Given the description of an element on the screen output the (x, y) to click on. 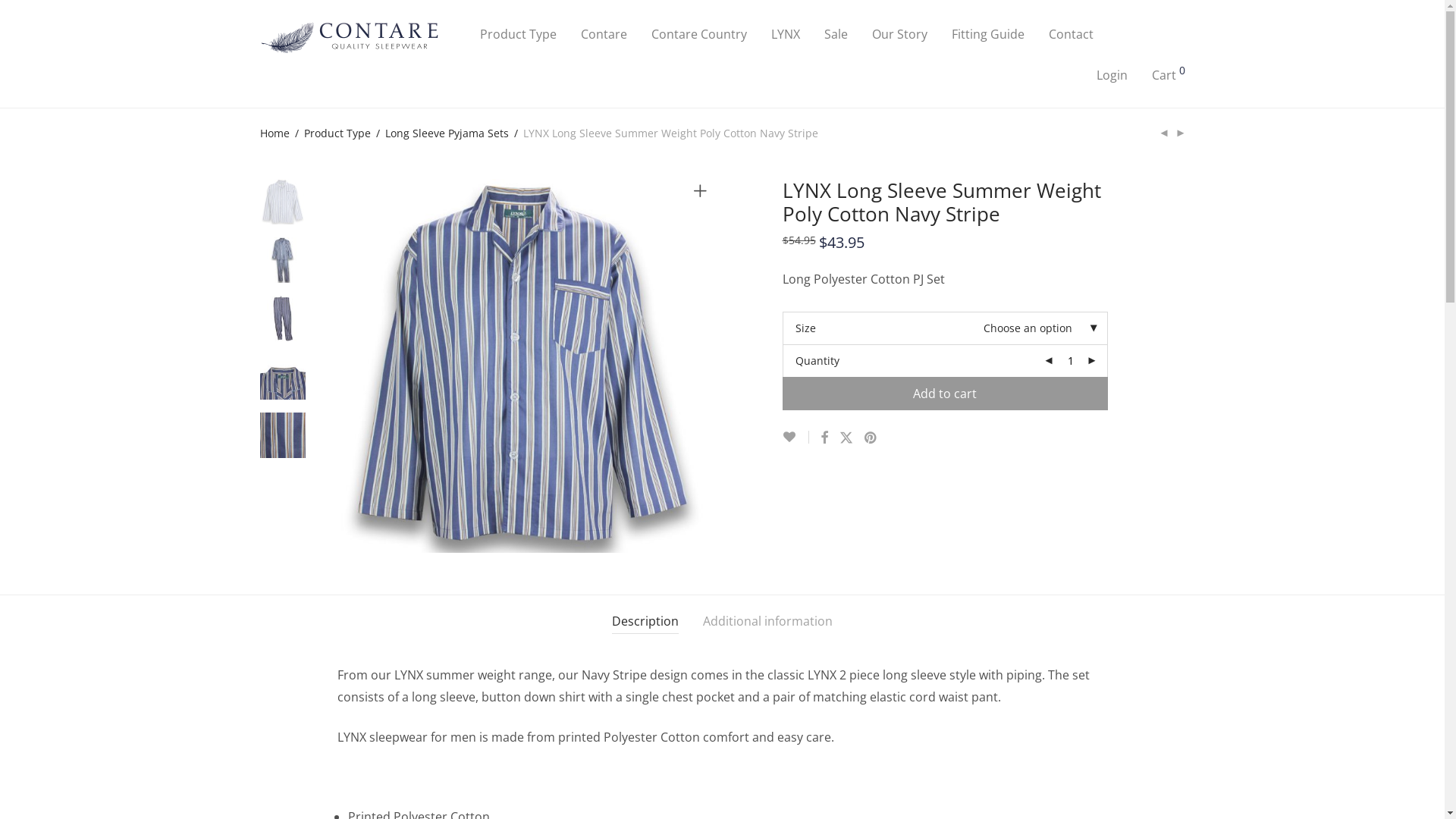
Share on Twitter Element type: hover (845, 437)
Home Element type: text (273, 133)
Contare Element type: text (603, 33)
Product Type Element type: text (336, 133)
Sale Element type: text (835, 33)
Share on Facebook Element type: hover (824, 437)
Long Sleeve Pyjama Sets Element type: text (446, 133)
Add to Wishlist Element type: hover (795, 436)
Fitting Guide Element type: text (986, 33)
Cart 0 Element type: text (1167, 74)
LYNX Element type: text (784, 33)
Contare Country Element type: text (698, 33)
Add to cart Element type: text (944, 393)
Product Type Element type: text (517, 33)
Contact Element type: text (1069, 33)
Our Story Element type: text (899, 33)
Login Element type: text (1111, 74)
Pin on Pinterest Element type: hover (871, 437)
Description Element type: text (644, 620)
A335050_NSS-Top Element type: hover (523, 365)
Additional information Element type: text (767, 620)
